Given the description of an element on the screen output the (x, y) to click on. 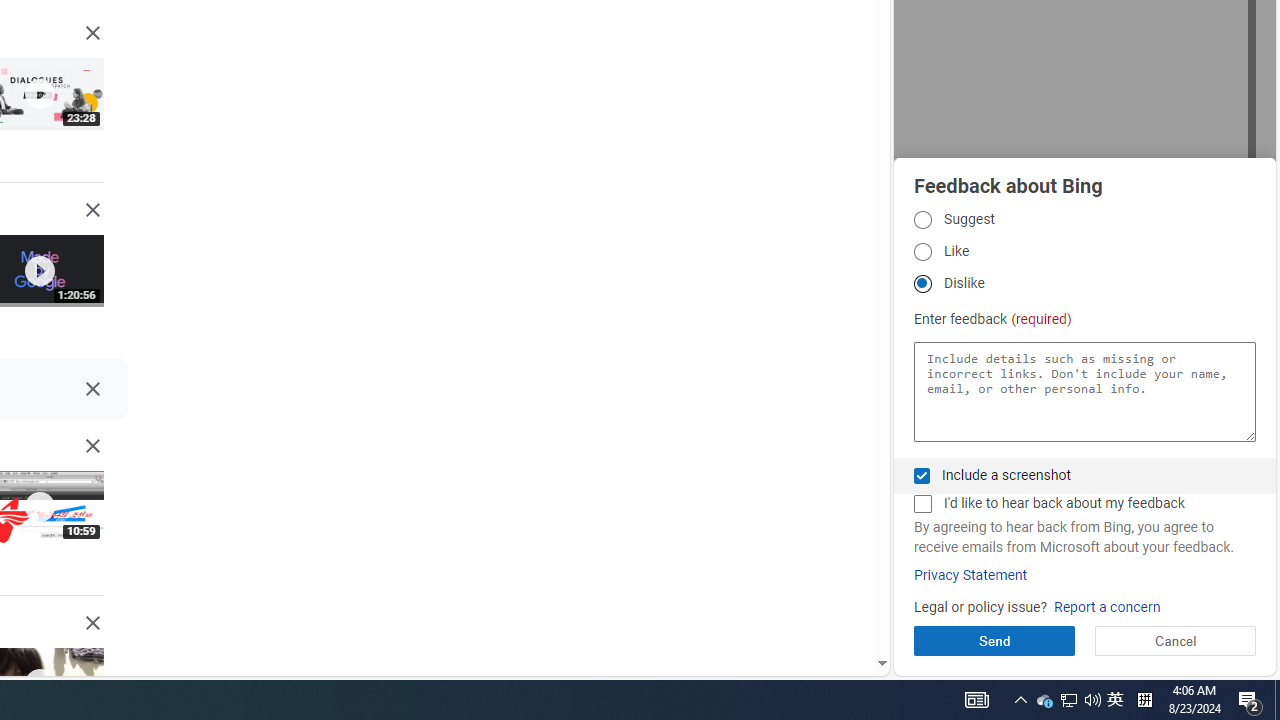
Class: DI7Mnf NMm5M (91, 389)
Like Like (922, 251)
Report a concern (1106, 607)
AutomationID: fbpgdgtp2 (922, 251)
AutomationID: fbpgdgtp1 (922, 219)
